Given the description of an element on the screen output the (x, y) to click on. 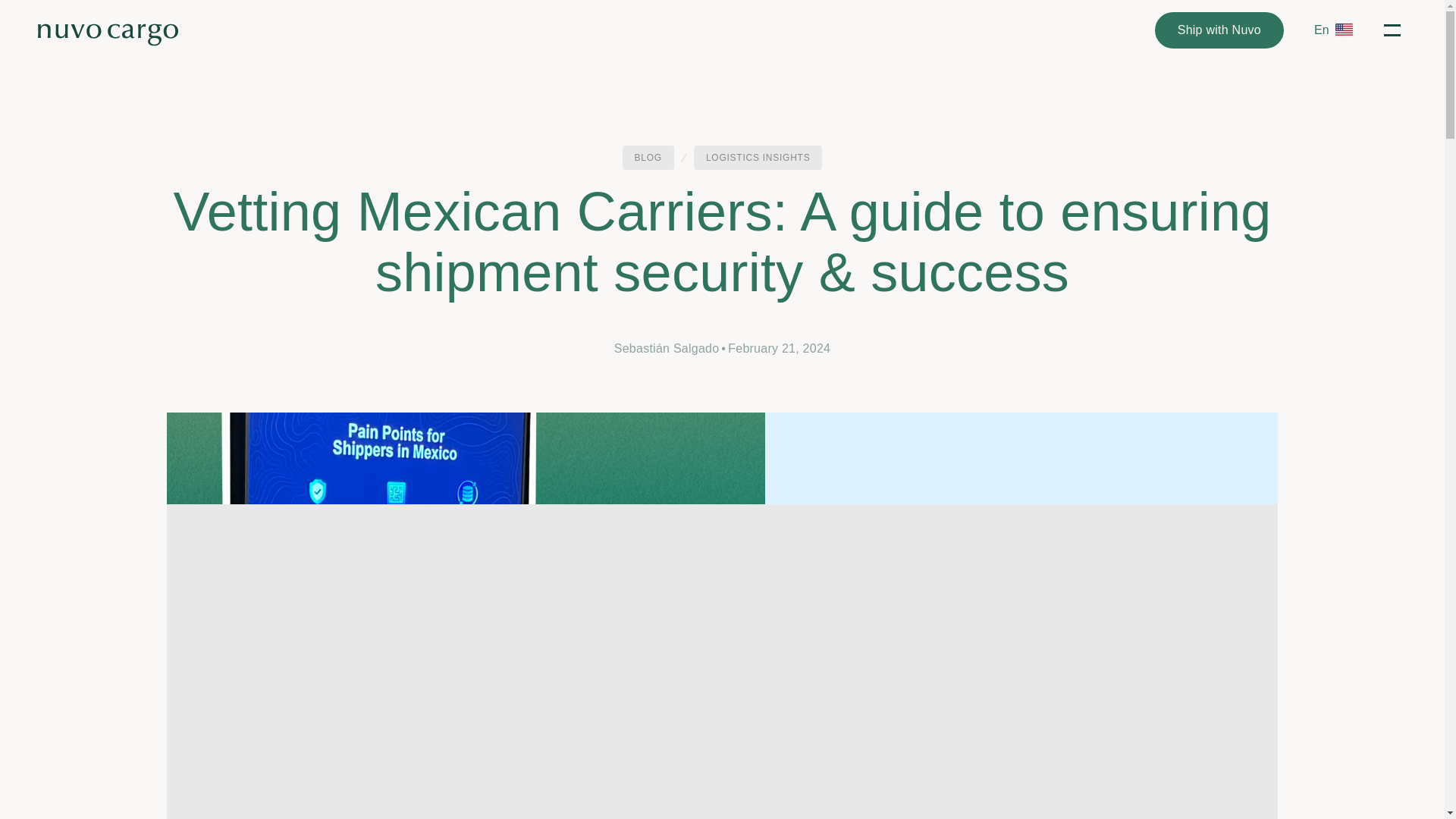
LOGISTICS INSIGHTS (758, 157)
Ship with Nuvo (1219, 30)
En (1330, 29)
BLOG (648, 157)
